Given the description of an element on the screen output the (x, y) to click on. 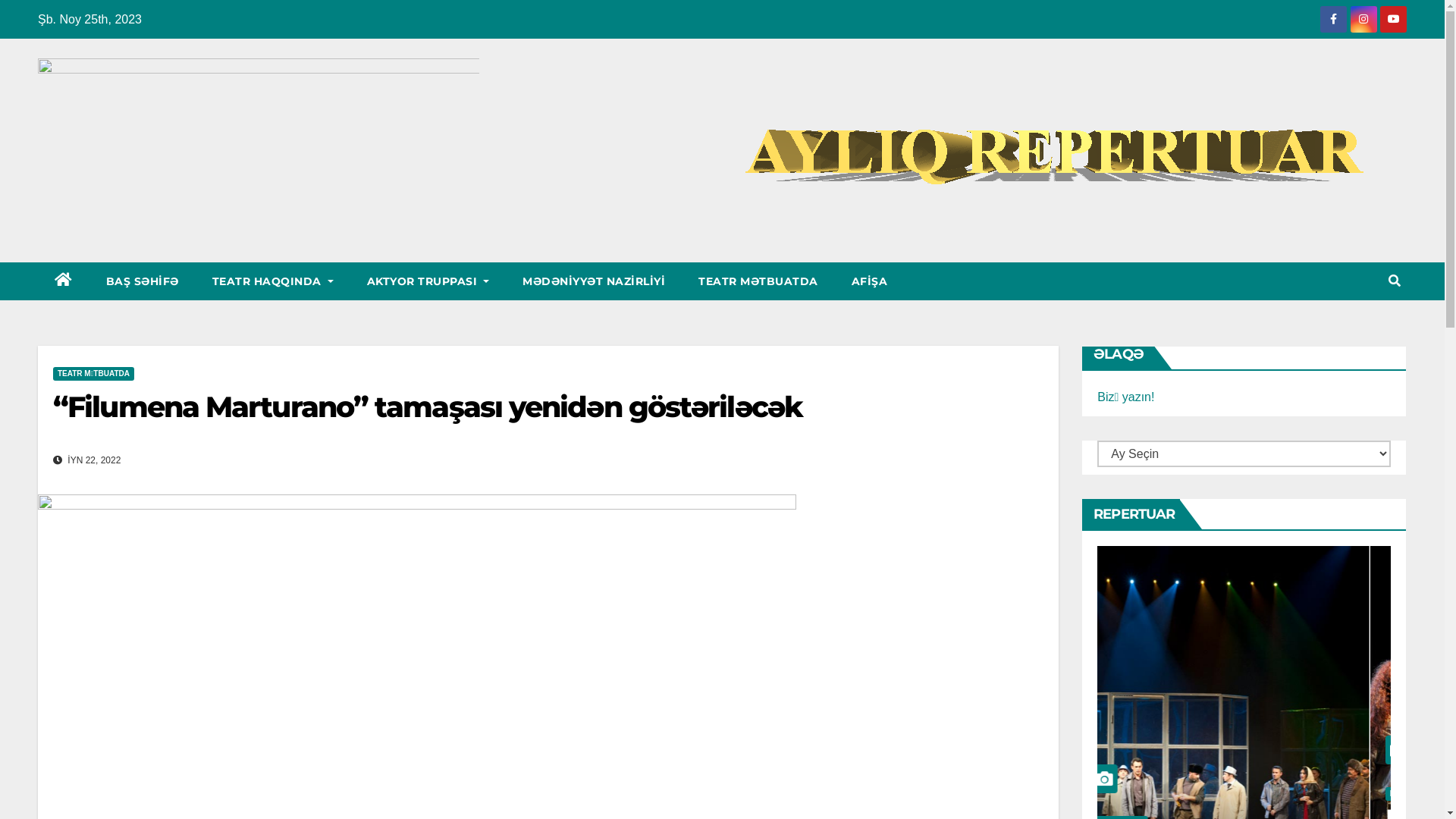
TEATR HAQQINDA Element type: text (272, 281)
AKTYOR TRUPPASI Element type: text (428, 281)
